Given the description of an element on the screen output the (x, y) to click on. 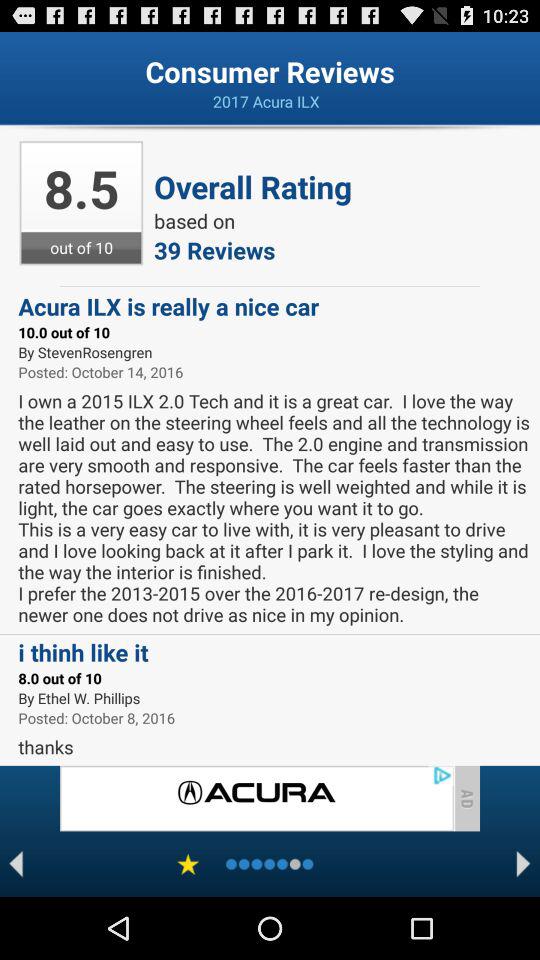
go to next (523, 864)
